Given the description of an element on the screen output the (x, y) to click on. 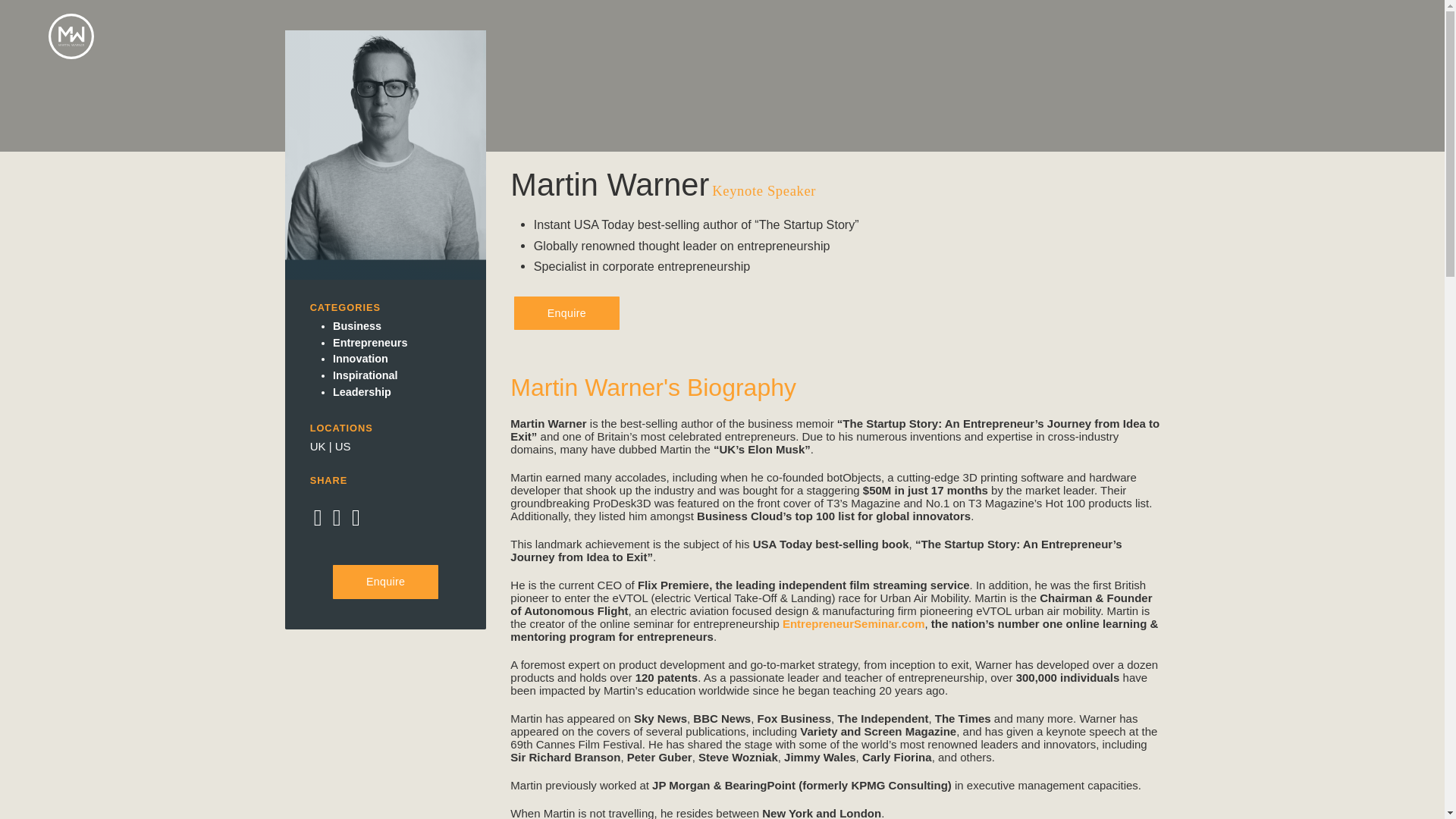
Home (71, 54)
EntrepreneurSeminar.com (853, 623)
Menu (1383, 36)
Enquire (385, 581)
Enquire (566, 313)
